Given the description of an element on the screen output the (x, y) to click on. 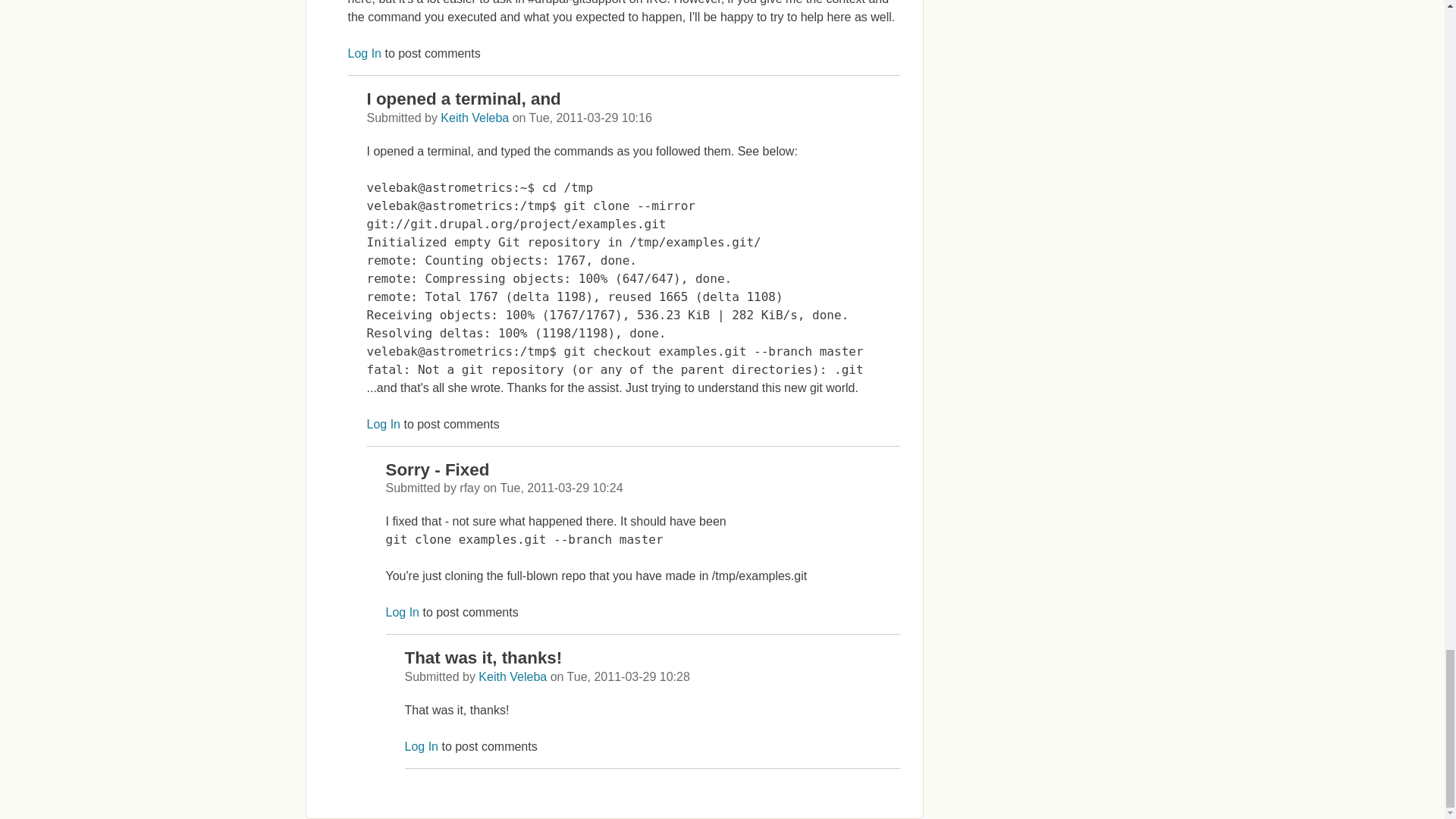
Log In (363, 52)
Sorry - Fixed (437, 469)
Log In (421, 746)
That was it, thanks! (483, 657)
Log In (383, 423)
I opened a terminal, and (463, 98)
Log In (402, 612)
Keith Veleba (474, 117)
Keith Veleba (513, 676)
